Given the description of an element on the screen output the (x, y) to click on. 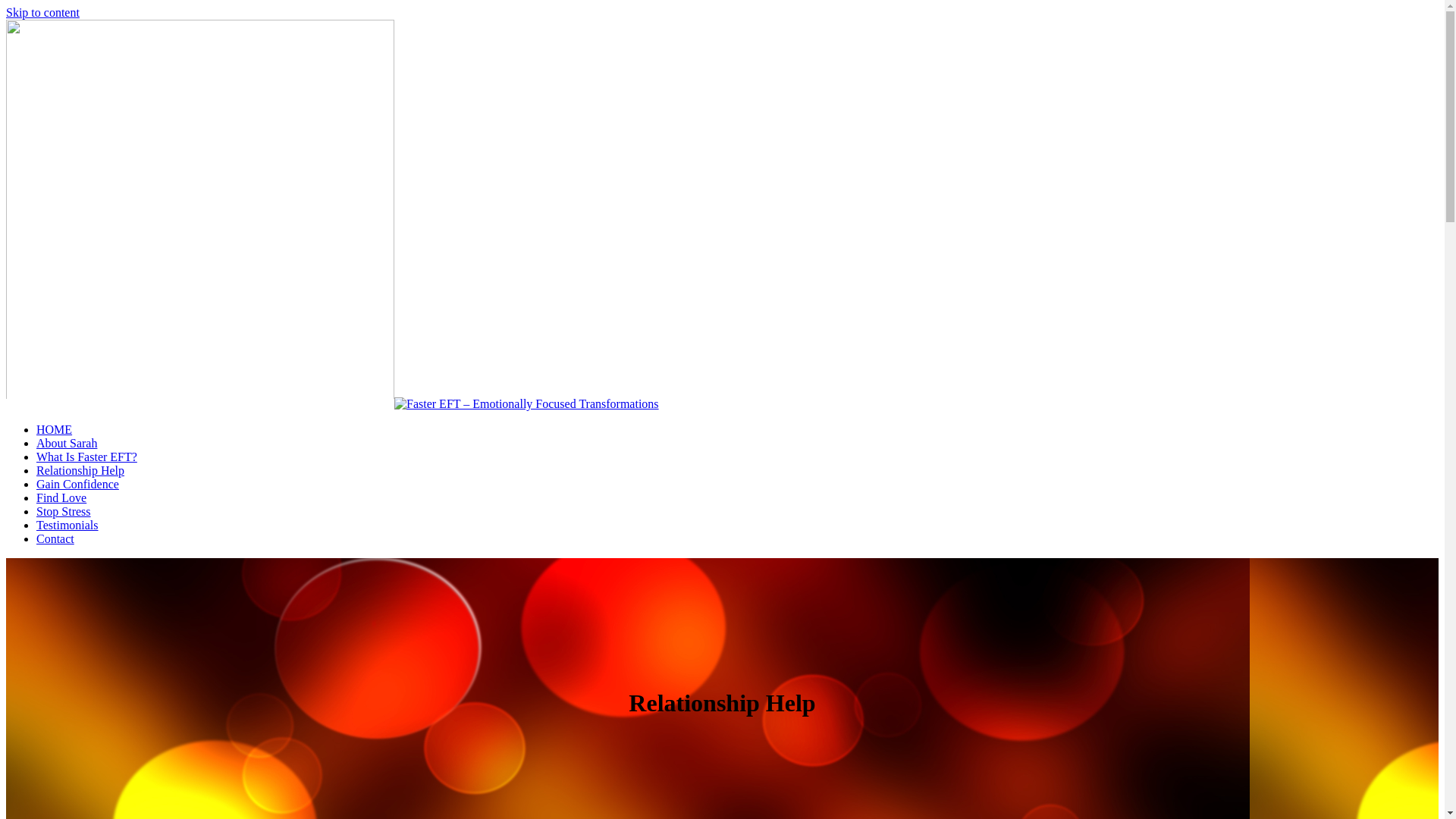
Skip to content Element type: text (42, 12)
About Sarah Element type: text (66, 442)
Relationship Help Element type: text (80, 470)
HOME Element type: text (54, 429)
Find Love Element type: text (61, 497)
Gain Confidence Element type: text (77, 483)
What Is Faster EFT? Element type: text (86, 456)
Stop Stress Element type: text (63, 511)
Contact Element type: text (55, 538)
Testimonials Element type: text (67, 524)
